Given the description of an element on the screen output the (x, y) to click on. 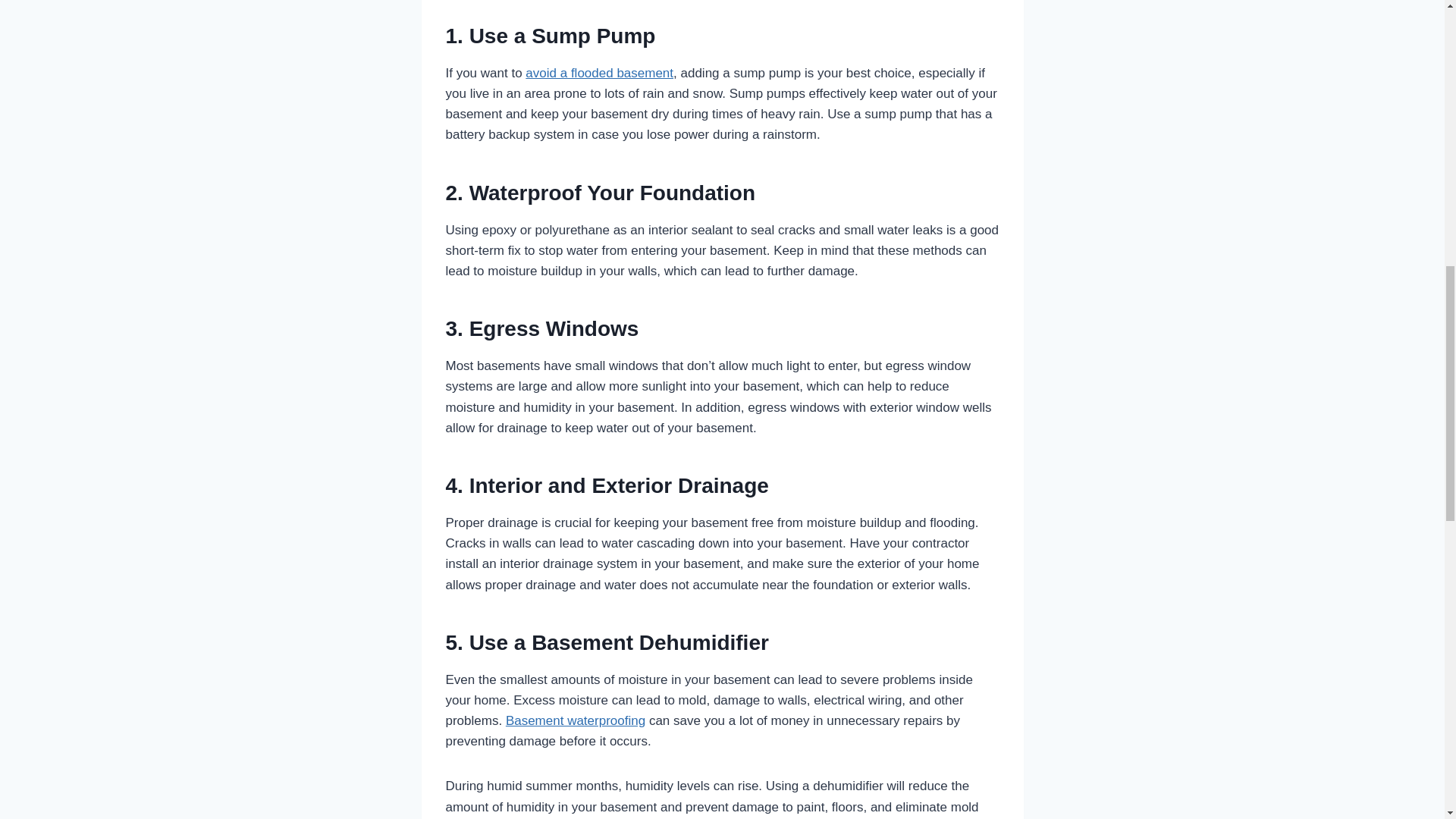
Basement waterproofing (575, 720)
Basement waterproofing (575, 720)
avoid a flooded basement (598, 73)
avoid a flooded basement (598, 73)
